Given the description of an element on the screen output the (x, y) to click on. 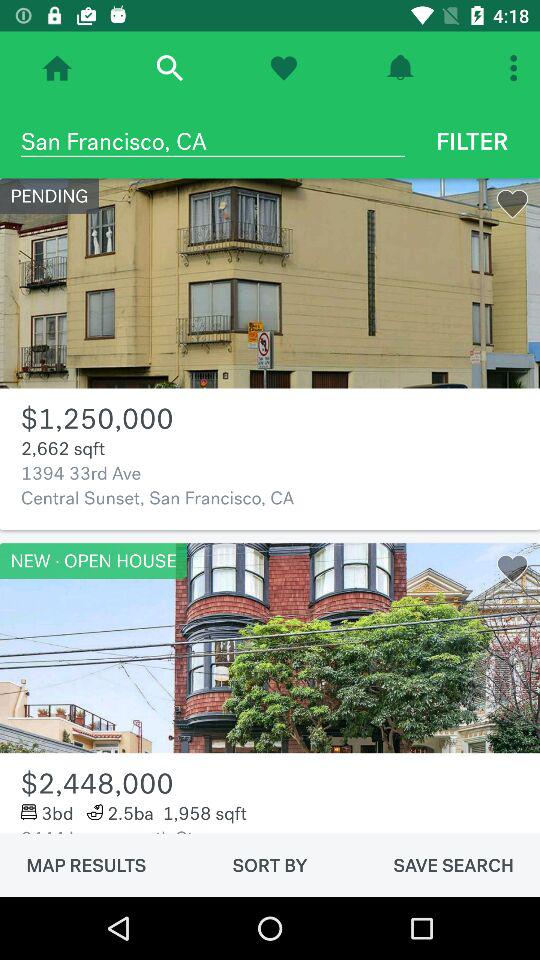
tap the icon below 2444 leavenworth st item (269, 865)
